Given the description of an element on the screen output the (x, y) to click on. 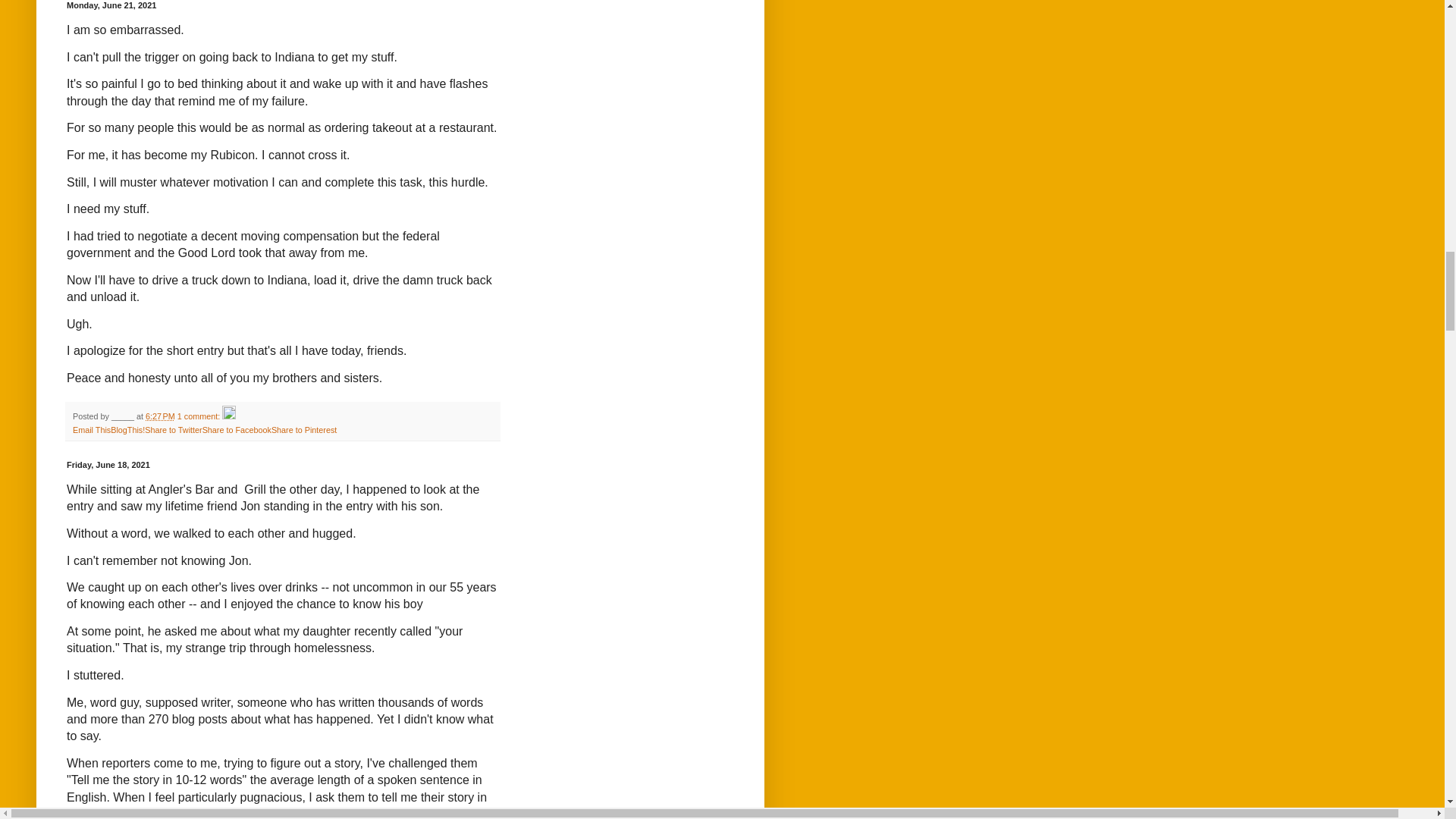
Share to Twitter (173, 429)
Email This (91, 429)
1 comment: (199, 415)
BlogThis! (127, 429)
